Given the description of an element on the screen output the (x, y) to click on. 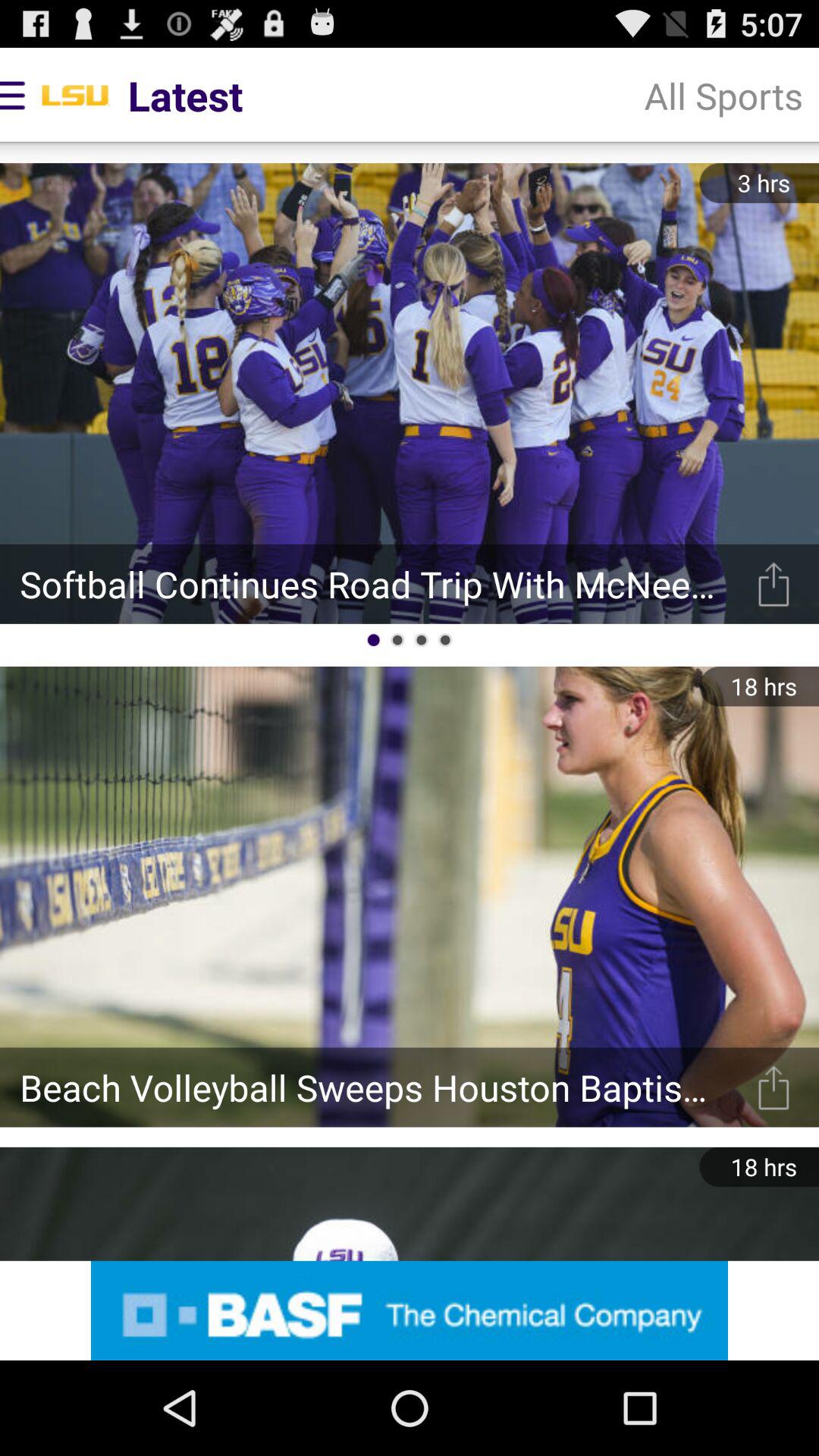
share article (773, 1087)
